Given the description of an element on the screen output the (x, y) to click on. 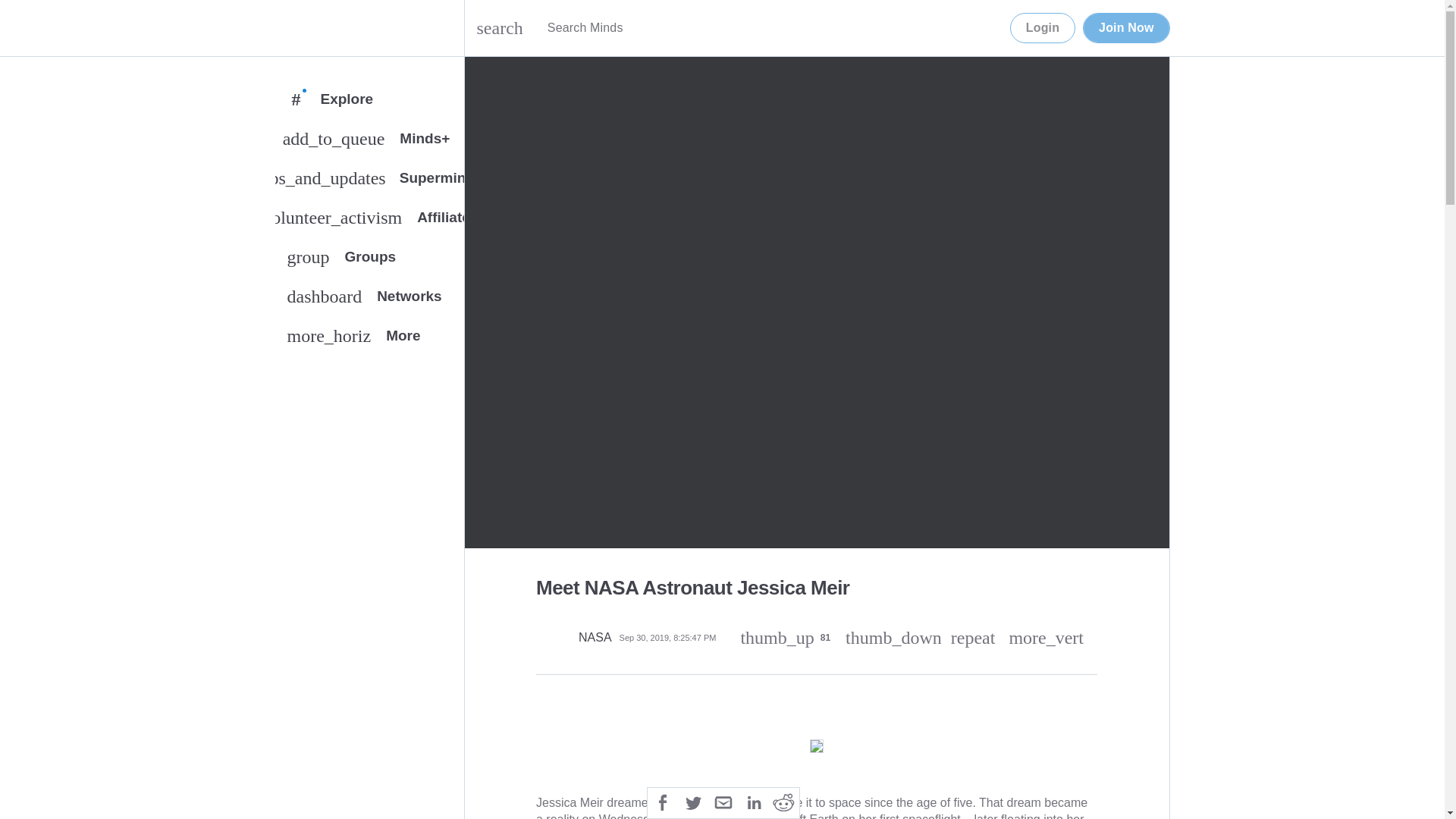
Reddit (783, 801)
Twitter (692, 801)
LinkedIn (753, 801)
Home (290, 28)
Login (1042, 28)
Email (722, 801)
Join Now (1126, 28)
repeat (369, 260)
NASA (972, 637)
